Given the description of an element on the screen output the (x, y) to click on. 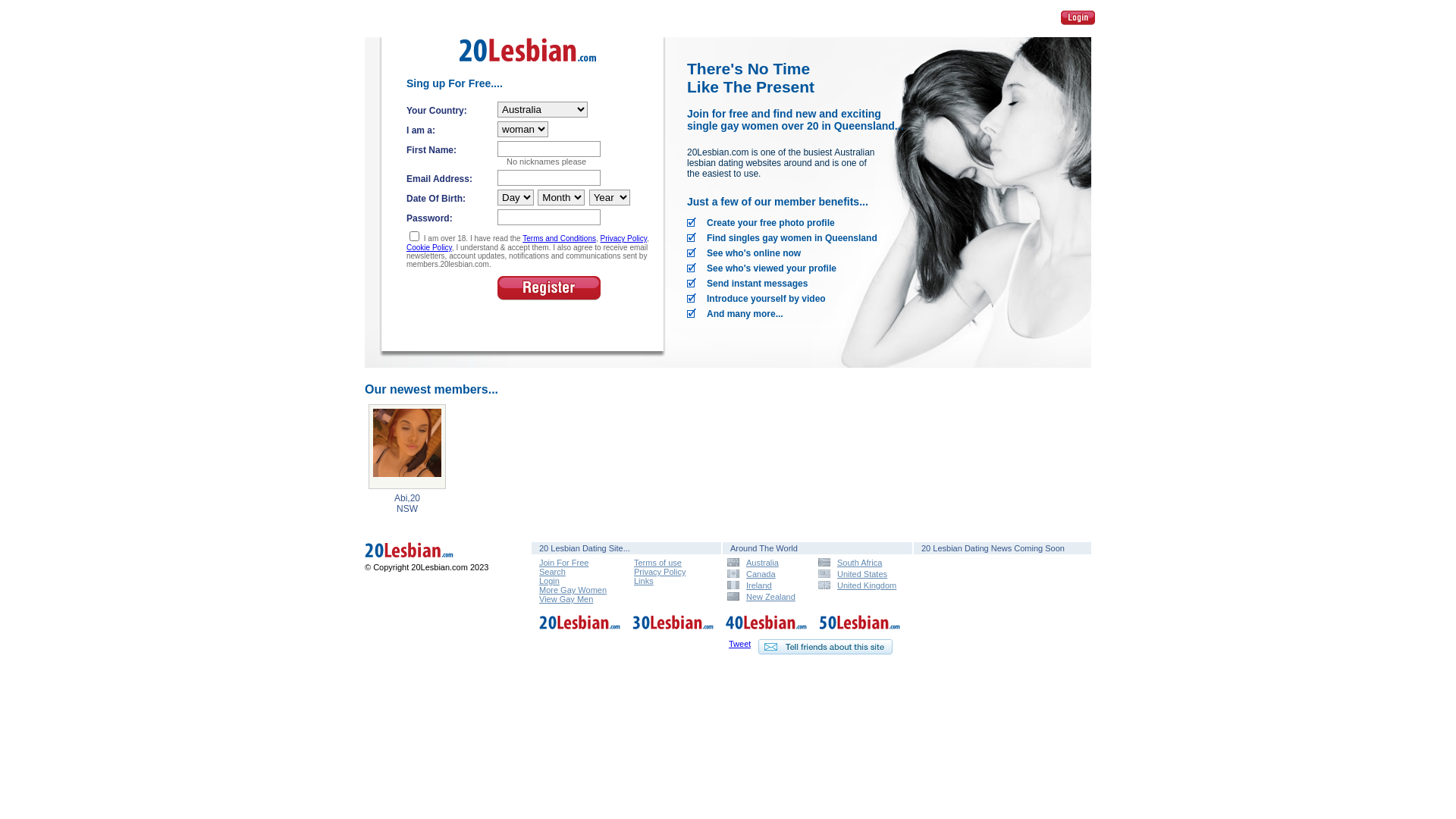
40 Lesbian Dating Element type: hover (766, 630)
Ireland Element type: text (766, 584)
Canada Element type: text (766, 573)
United States Element type: text (857, 573)
More Gay Women Element type: text (572, 589)
Tell your friends about 20 Lesbian Dating Element type: text (825, 646)
View Gay Men Element type: text (566, 598)
20 Lesbian Dating Australia Element type: hover (432, 559)
South Africa Element type: text (857, 562)
Login Element type: text (1076, 17)
Terms and Conditions Element type: text (559, 238)
20 Lesbian Dating Element type: hover (580, 630)
Terms of use Element type: text (657, 562)
30 Lesbian Dating Element type: hover (673, 630)
New Zealand Element type: text (766, 596)
Links Element type: text (643, 580)
Privacy Policy Element type: text (659, 571)
Tweet Element type: text (739, 643)
Search Element type: text (552, 571)
Join For Free Element type: text (563, 562)
Login Element type: text (549, 580)
United Kingdom Element type: text (857, 584)
Cookie Policy Element type: text (428, 247)
50 Lesbian Dating Element type: hover (859, 630)
Login Element type: text (1077, 17)
Abi, 20 from Millers Point, NSW Element type: hover (406, 446)
20 Lesbian Dating Element type: hover (527, 66)
Australia Element type: text (766, 562)
Privacy Policy Element type: text (623, 238)
Register Element type: text (548, 288)
20 Lesbian Dating Australia Element type: hover (432, 552)
